Given the description of an element on the screen output the (x, y) to click on. 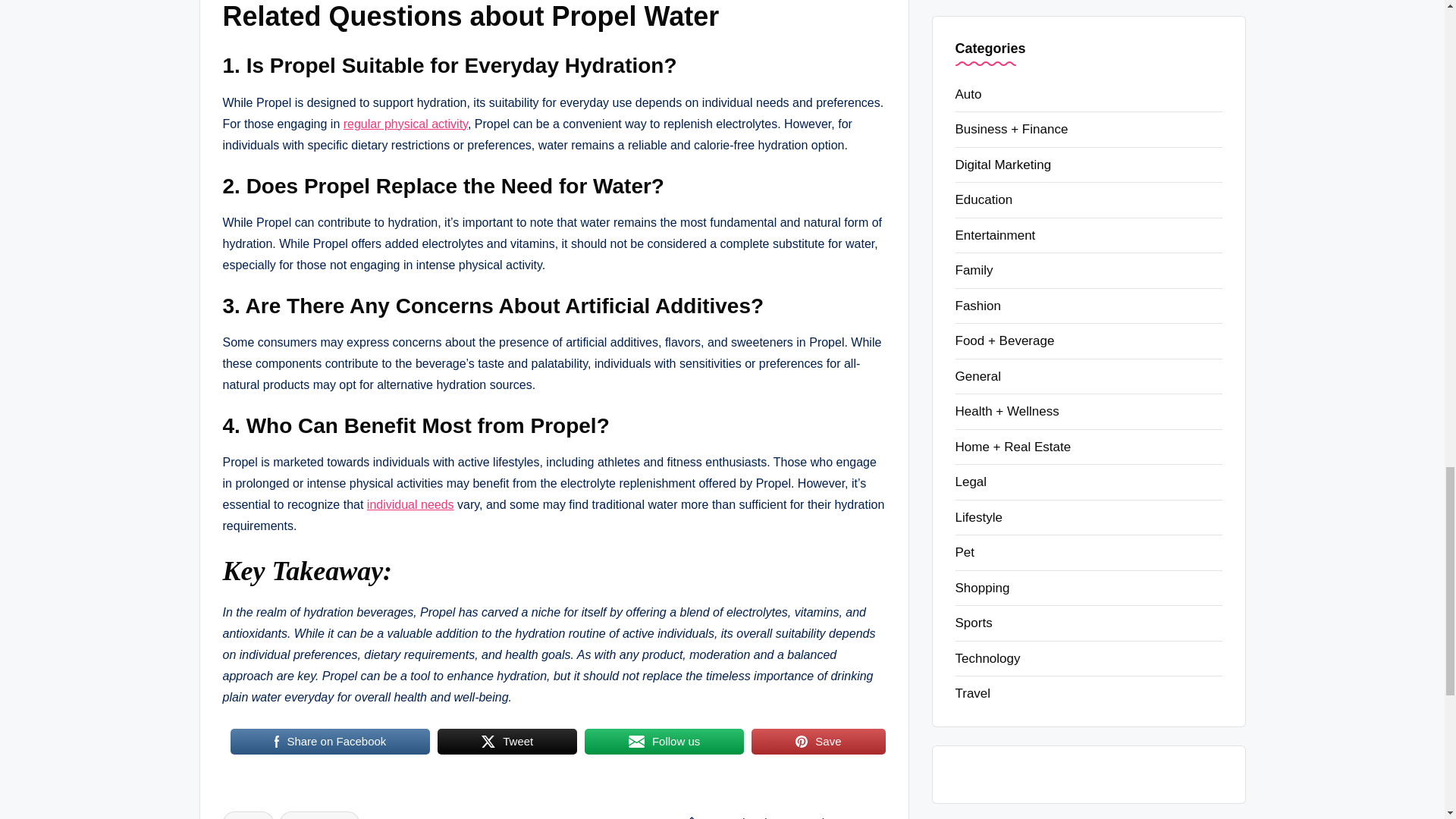
Kric88 (801, 741)
Kric88 (636, 741)
Kric88 (488, 741)
